Given the description of an element on the screen output the (x, y) to click on. 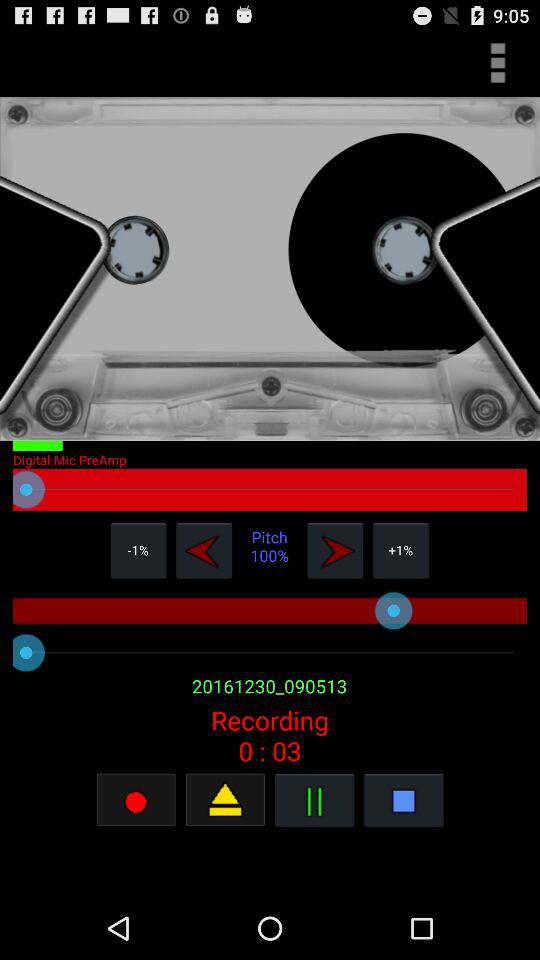
stop recording (135, 799)
